Given the description of an element on the screen output the (x, y) to click on. 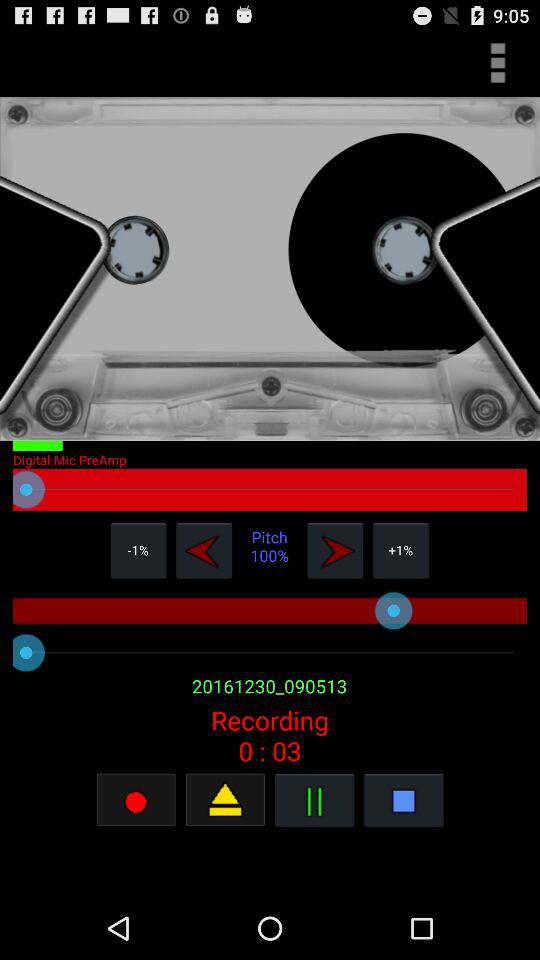
stop recording (135, 799)
